Given the description of an element on the screen output the (x, y) to click on. 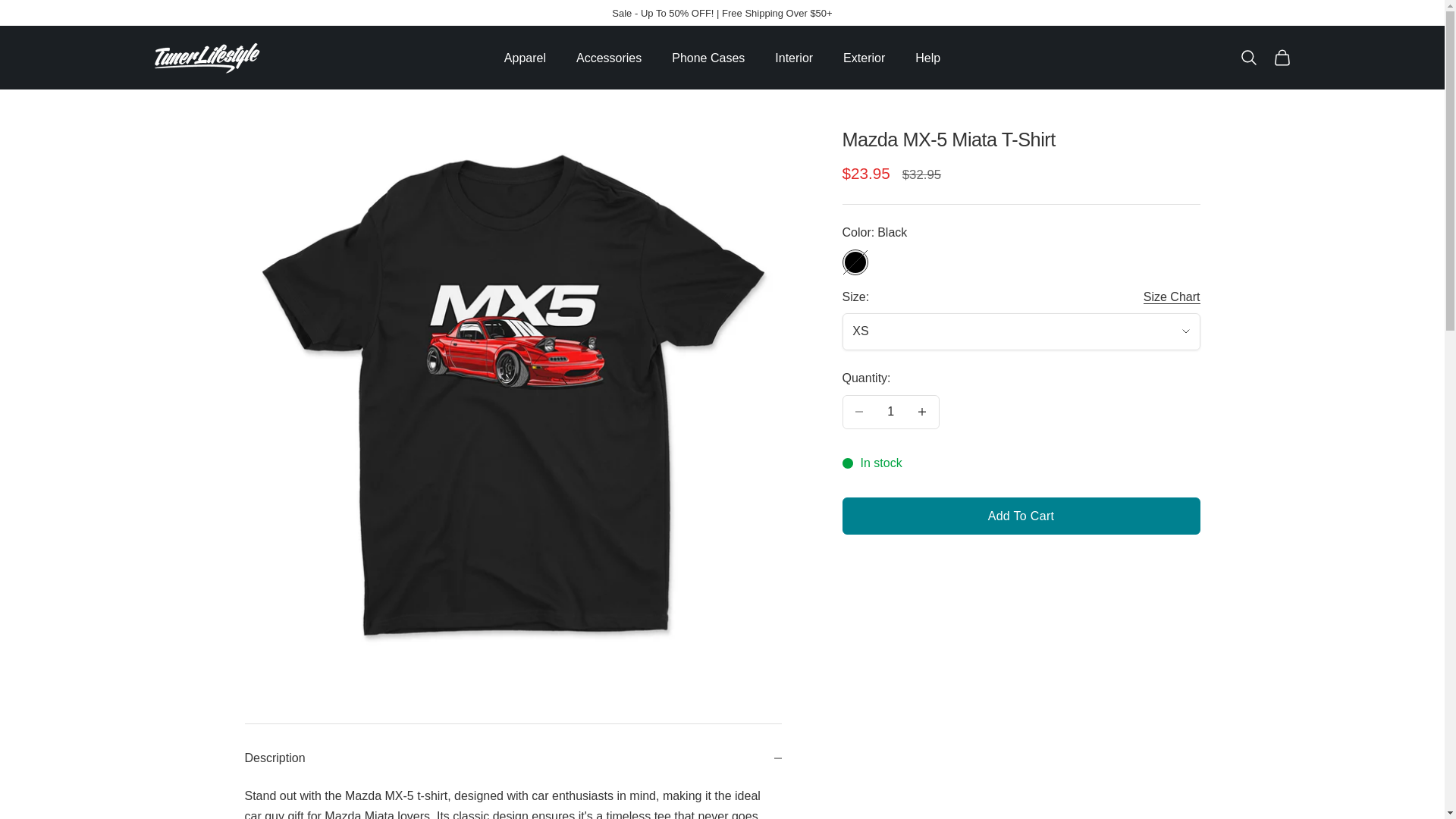
TunerLifestyle (1281, 57)
Open search (205, 57)
Size Chart (1248, 57)
1 (1170, 297)
XS (890, 411)
Black (1020, 331)
